Given the description of an element on the screen output the (x, y) to click on. 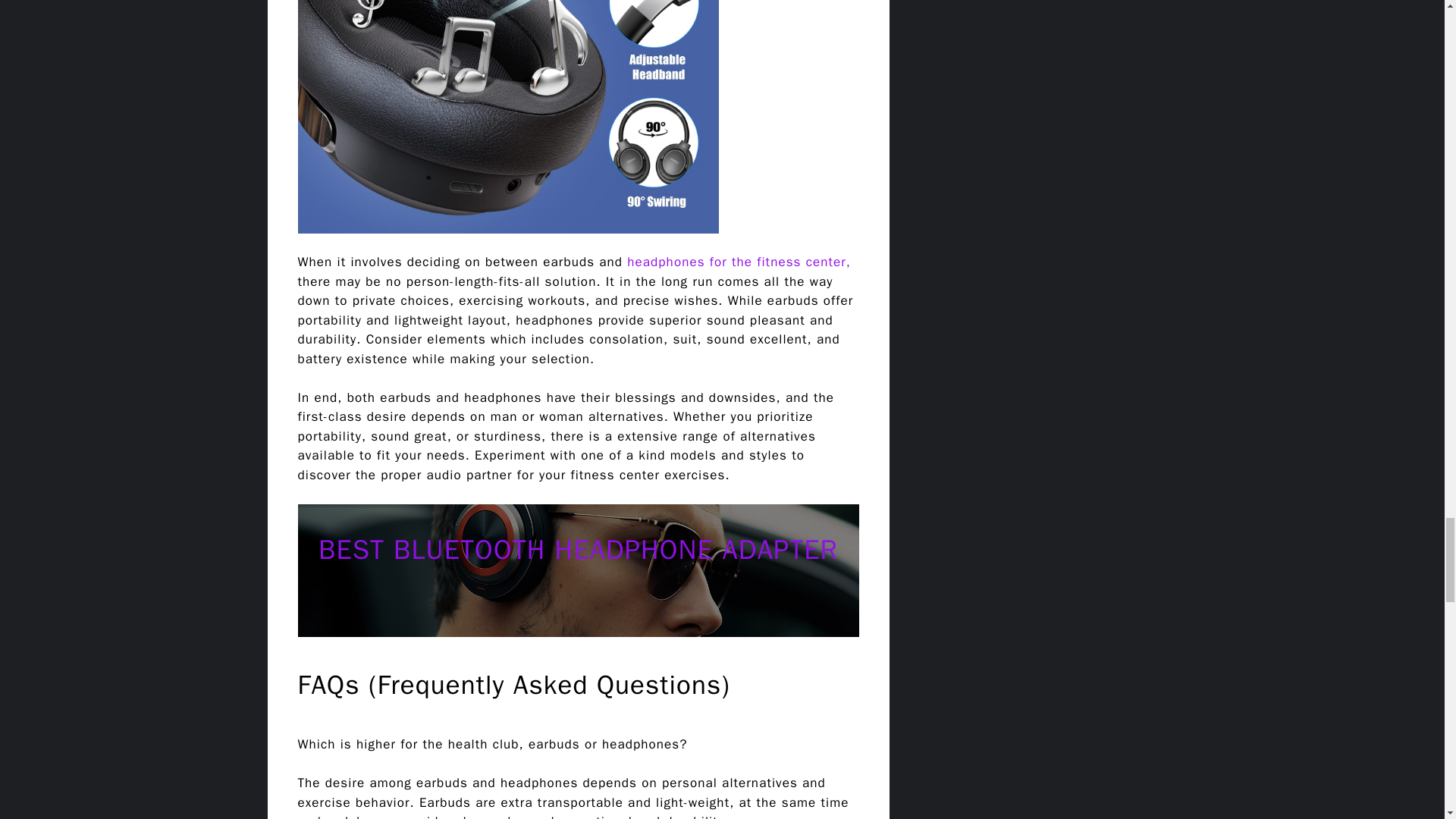
BEST BLUETOOTH HEADPHONE ADAPTER (578, 549)
headphones for the fitness center, (738, 261)
